Given the description of an element on the screen output the (x, y) to click on. 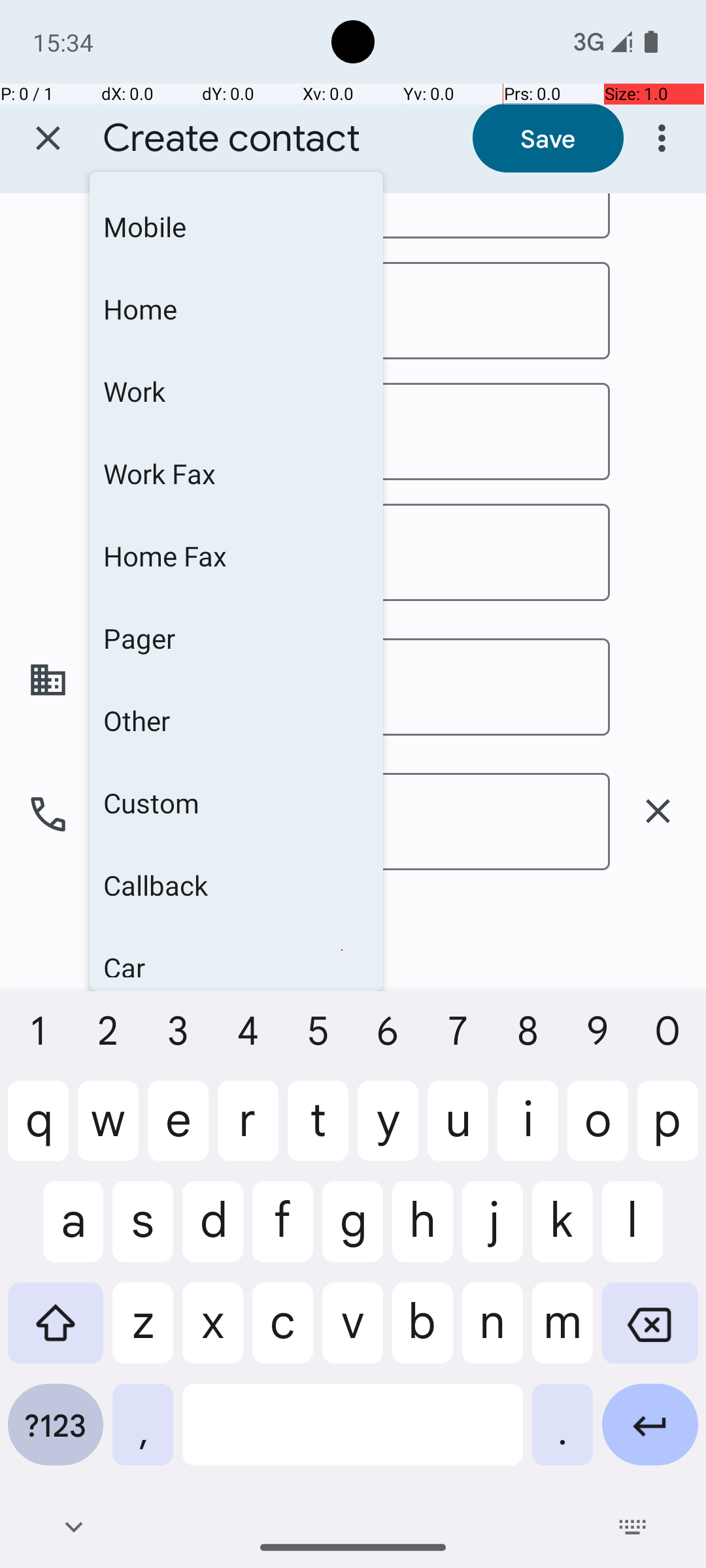
Create contact Element type: android.widget.TextView (231, 138)
Save Element type: android.widget.Button (547, 137)
First name Element type: android.widget.EditText (349, 215)
Middle name Element type: android.widget.EditText (349, 310)
Last name Element type: android.widget.EditText (349, 431)
Name suffix Element type: android.widget.EditText (349, 552)
Company Element type: android.widget.EditText (349, 686)
555-123-4567 Element type: android.widget.EditText (349, 821)
Mobile Element type: android.widget.Spinner (236, 942)
Show dropdown menu Element type: android.widget.ImageButton (341, 941)
Delete Mobile Phone Element type: android.widget.FrameLayout (657, 811)
delete Element type: android.widget.ImageView (657, 811)
Work Element type: android.widget.CheckedTextView (236, 391)
Work Fax Element type: android.widget.CheckedTextView (236, 473)
Home Fax Element type: android.widget.CheckedTextView (236, 555)
Pager Element type: android.widget.CheckedTextView (236, 638)
Other Element type: android.widget.CheckedTextView (236, 720)
Custom Element type: android.widget.CheckedTextView (236, 802)
Callback Element type: android.widget.CheckedTextView (236, 885)
Car Element type: android.widget.CheckedTextView (236, 951)
Back Element type: android.widget.ImageView (73, 1526)
Switch input method Element type: android.widget.ImageView (632, 1526)
q Element type: android.widget.FrameLayout (38, 1130)
w Element type: android.widget.FrameLayout (108, 1130)
e Element type: android.widget.FrameLayout (178, 1130)
r Element type: android.widget.FrameLayout (248, 1130)
t Element type: android.widget.FrameLayout (318, 1130)
y Element type: android.widget.FrameLayout (387, 1130)
u Element type: android.widget.FrameLayout (457, 1130)
i Element type: android.widget.FrameLayout (527, 1130)
o Element type: android.widget.FrameLayout (597, 1130)
p Element type: android.widget.FrameLayout (667, 1130)
a Element type: android.widget.FrameLayout (55, 1231)
s Element type: android.widget.FrameLayout (142, 1231)
d Element type: android.widget.FrameLayout (212, 1231)
f Element type: android.widget.FrameLayout (282, 1231)
g Element type: android.widget.FrameLayout (352, 1231)
h Element type: android.widget.FrameLayout (422, 1231)
j Element type: android.widget.FrameLayout (492, 1231)
k Element type: android.widget.FrameLayout (562, 1231)
l Element type: android.widget.FrameLayout (649, 1231)
Shift Element type: android.widget.FrameLayout (55, 1332)
z Element type: android.widget.FrameLayout (142, 1332)
x Element type: android.widget.FrameLayout (212, 1332)
c Element type: android.widget.FrameLayout (282, 1332)
v Element type: android.widget.FrameLayout (352, 1332)
b Element type: android.widget.FrameLayout (422, 1332)
n Element type: android.widget.FrameLayout (492, 1332)
m Element type: android.widget.FrameLayout (562, 1332)
Symbol keyboard Element type: android.widget.FrameLayout (55, 1434)
, Element type: android.widget.FrameLayout (142, 1434)
Space Element type: android.widget.FrameLayout (352, 1434)
. Element type: android.widget.FrameLayout (562, 1434)
Enter Element type: android.widget.FrameLayout (649, 1434)
